Given the description of an element on the screen output the (x, y) to click on. 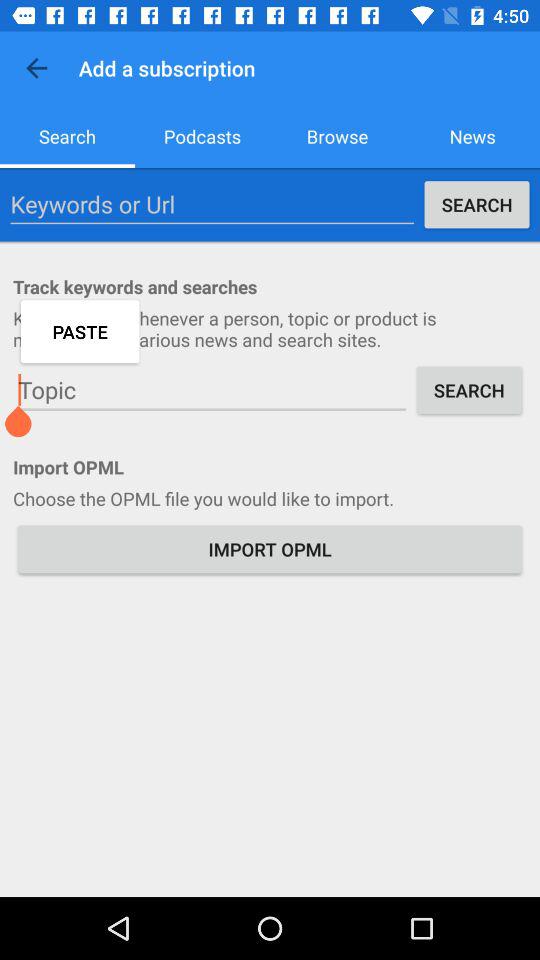
keyword or url search (212, 204)
